Given the description of an element on the screen output the (x, y) to click on. 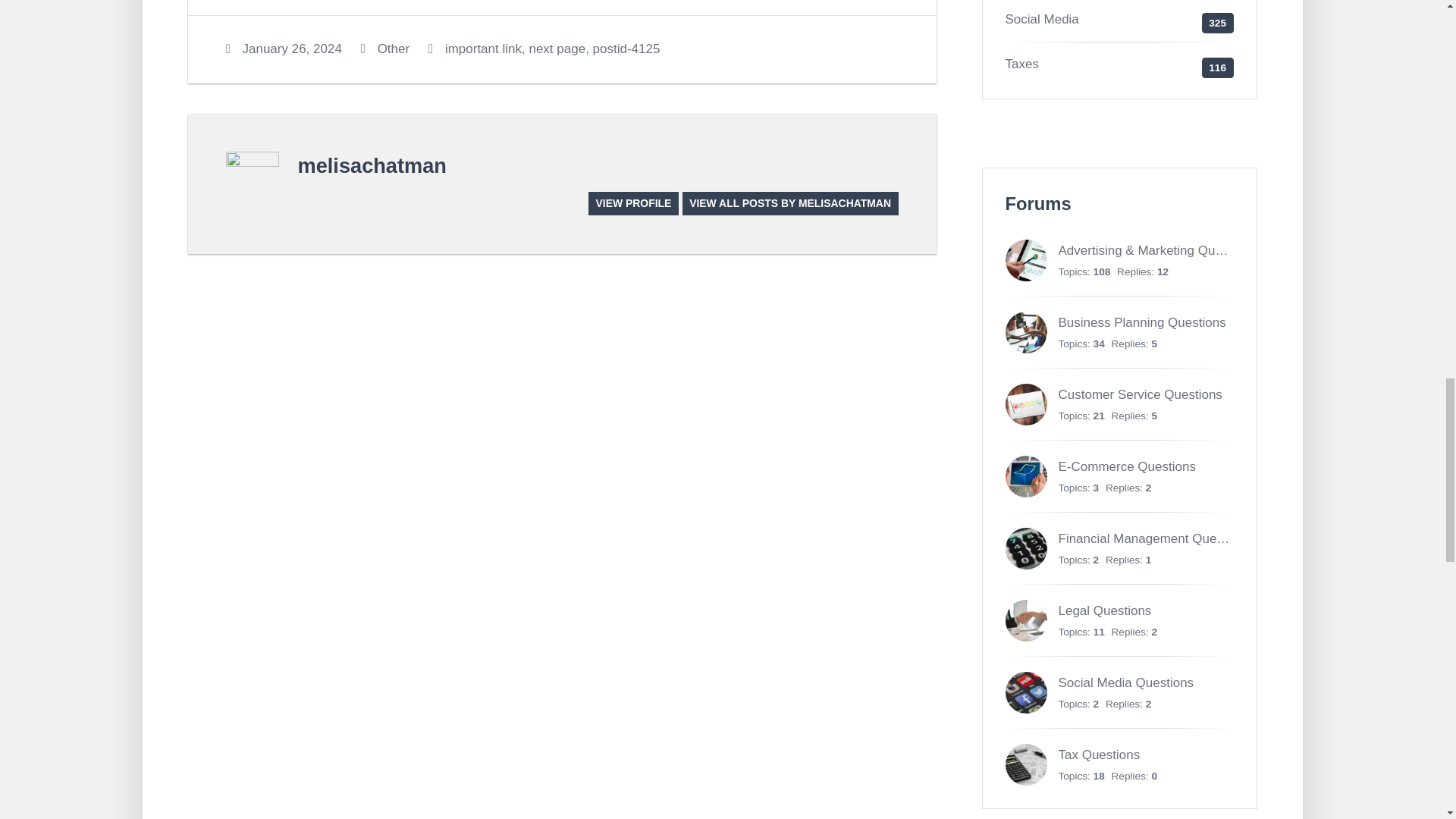
VIEW PROFILE (633, 203)
VIEW ALL POSTS BY MELISACHATMAN (790, 203)
important link (483, 48)
Other (393, 48)
next page (556, 48)
melisachatman (371, 165)
postid-4125 (626, 48)
